Given the description of an element on the screen output the (x, y) to click on. 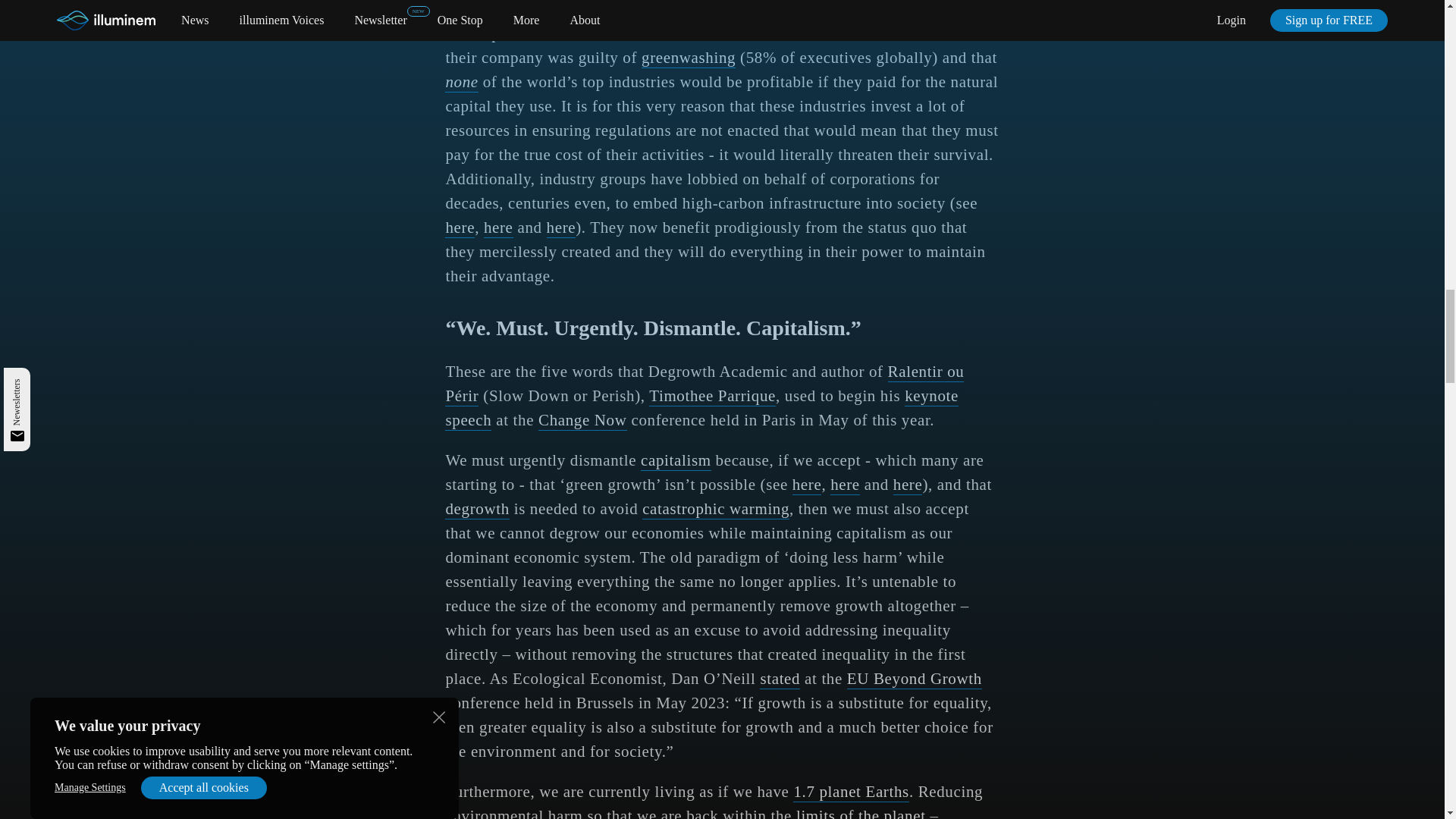
here (807, 485)
here (459, 228)
none (461, 82)
keynote speech (701, 408)
here (498, 228)
here (908, 485)
Change Now (582, 420)
greenwashing (688, 57)
capitalism (675, 460)
Timothee Parrique (712, 396)
